Given the description of an element on the screen output the (x, y) to click on. 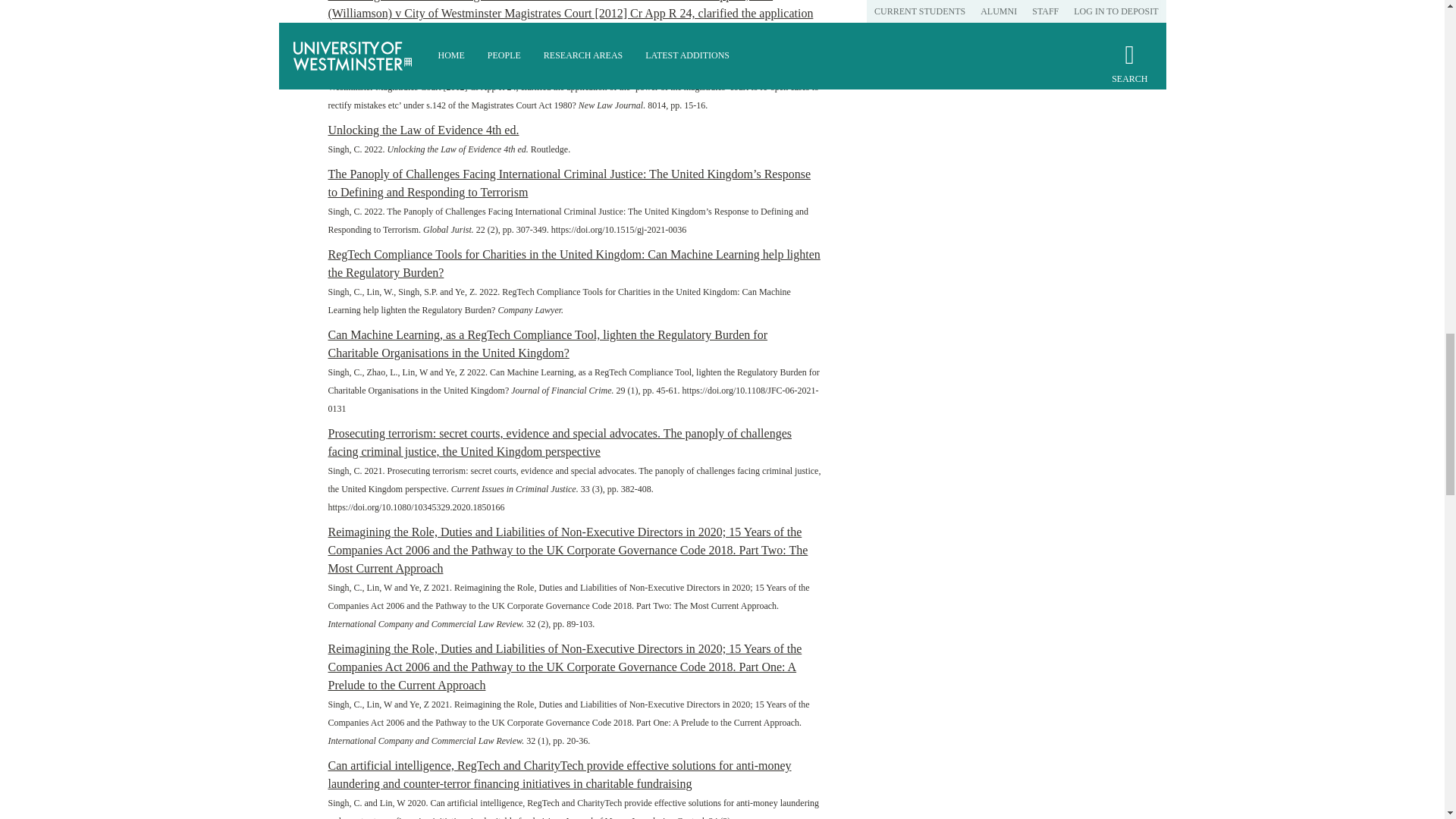
Unlocking the Law of Evidence 4th ed. (422, 129)
